Given the description of an element on the screen output the (x, y) to click on. 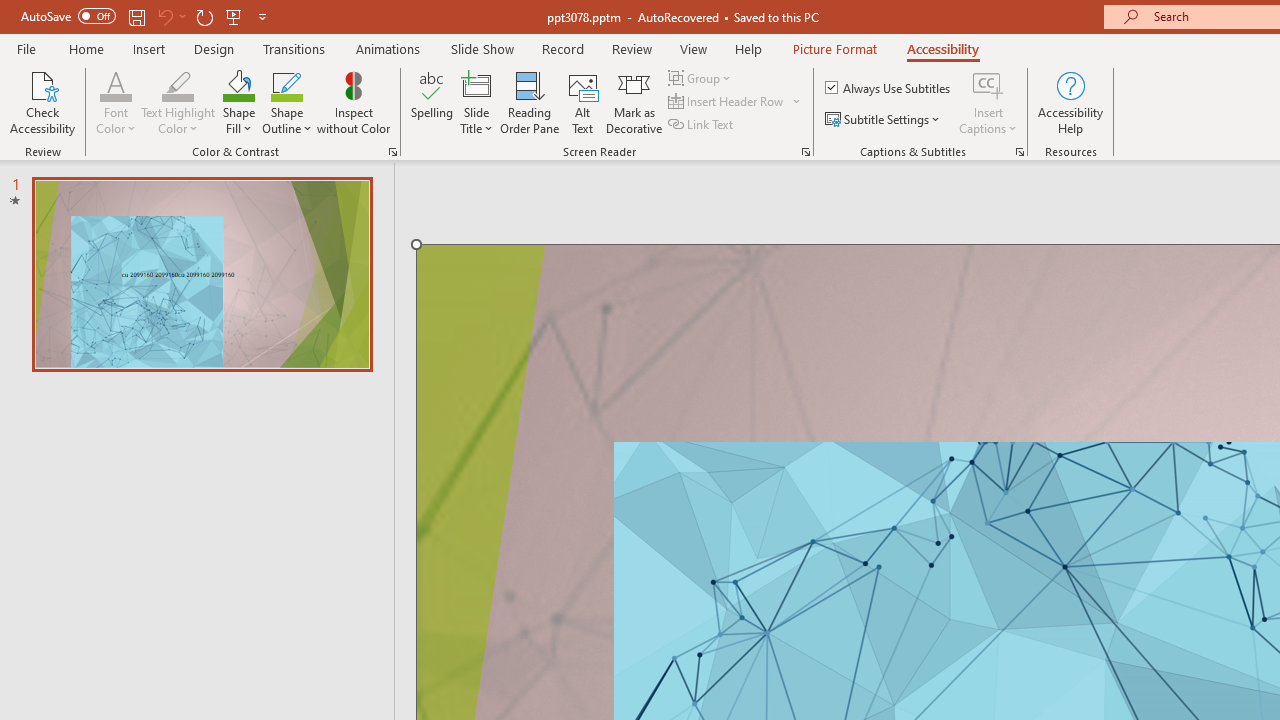
Shape Outline Green, Accent 1 (286, 84)
Slide Title (476, 102)
Alt Text (582, 102)
Group (701, 78)
Insert Header Row (735, 101)
Reading Order Pane (529, 102)
Slide Title (476, 84)
